Given the description of an element on the screen output the (x, y) to click on. 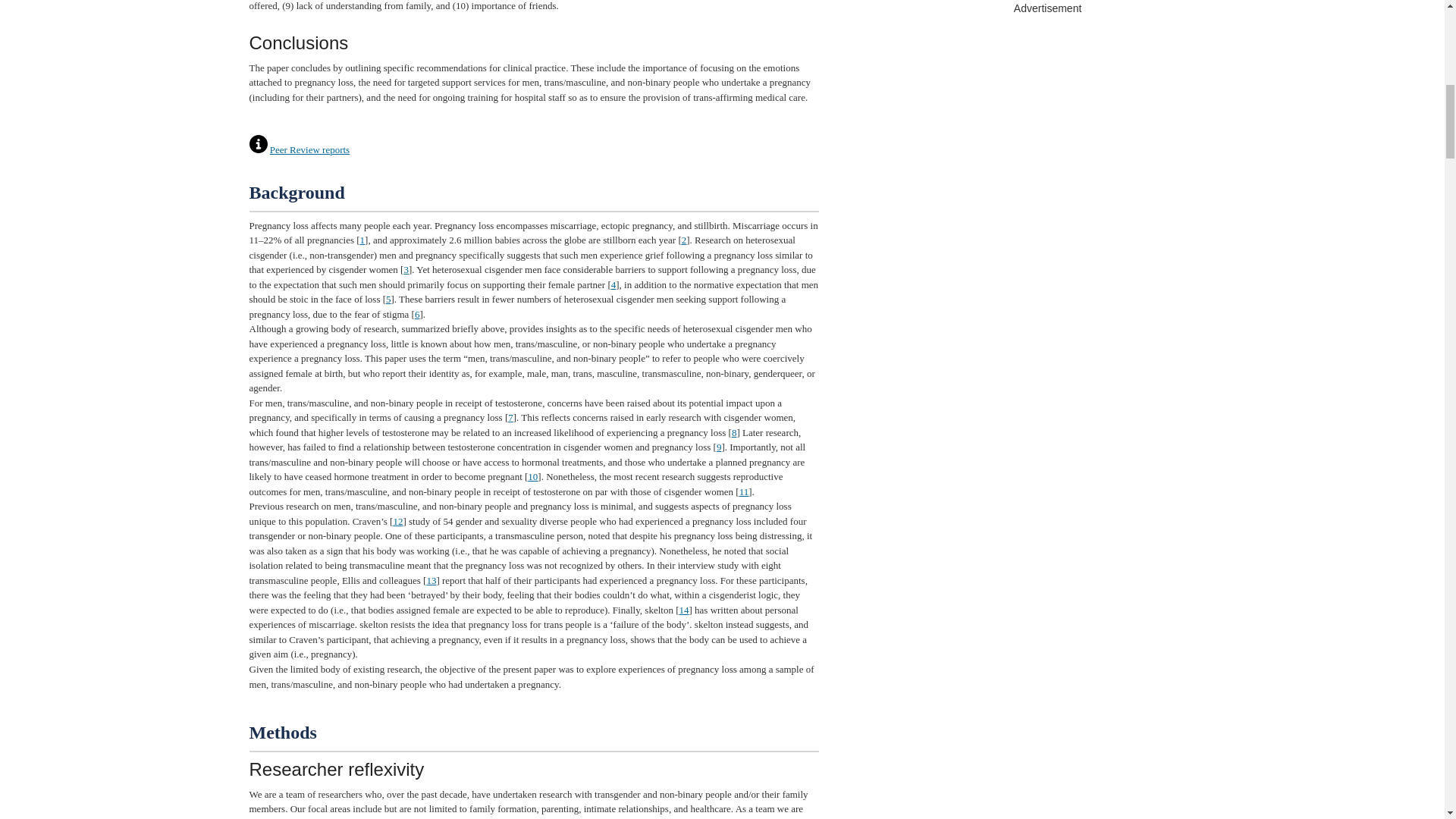
Peer Review reports (309, 149)
